Given the description of an element on the screen output the (x, y) to click on. 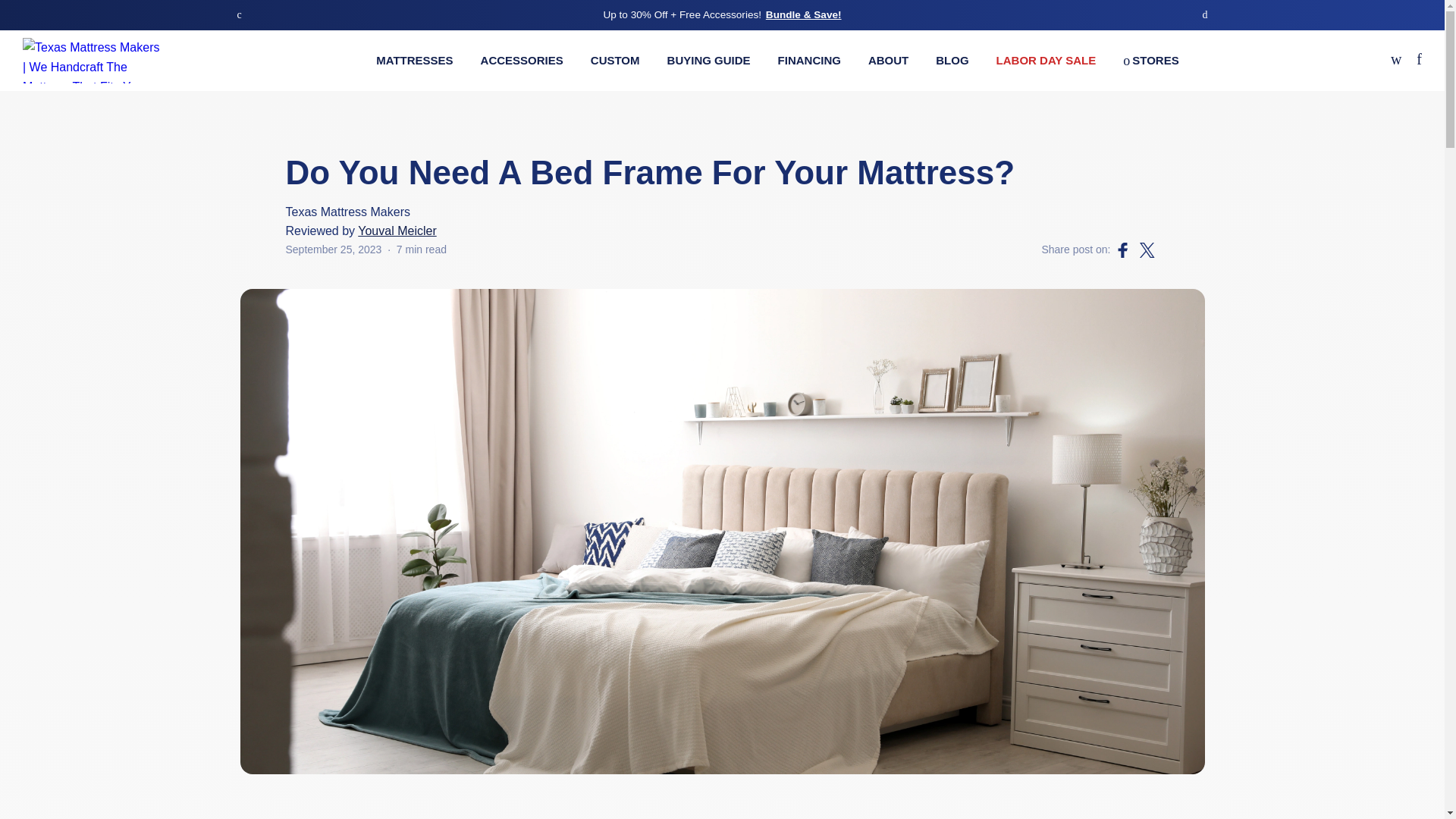
STORES (1149, 60)
ACCESSORIES (521, 60)
BUYING GUIDE (708, 60)
FINANCING (809, 60)
MATTRESSES (413, 60)
LABOR DAY SALE (1045, 60)
Youval Meicler (396, 230)
